Given the description of an element on the screen output the (x, y) to click on. 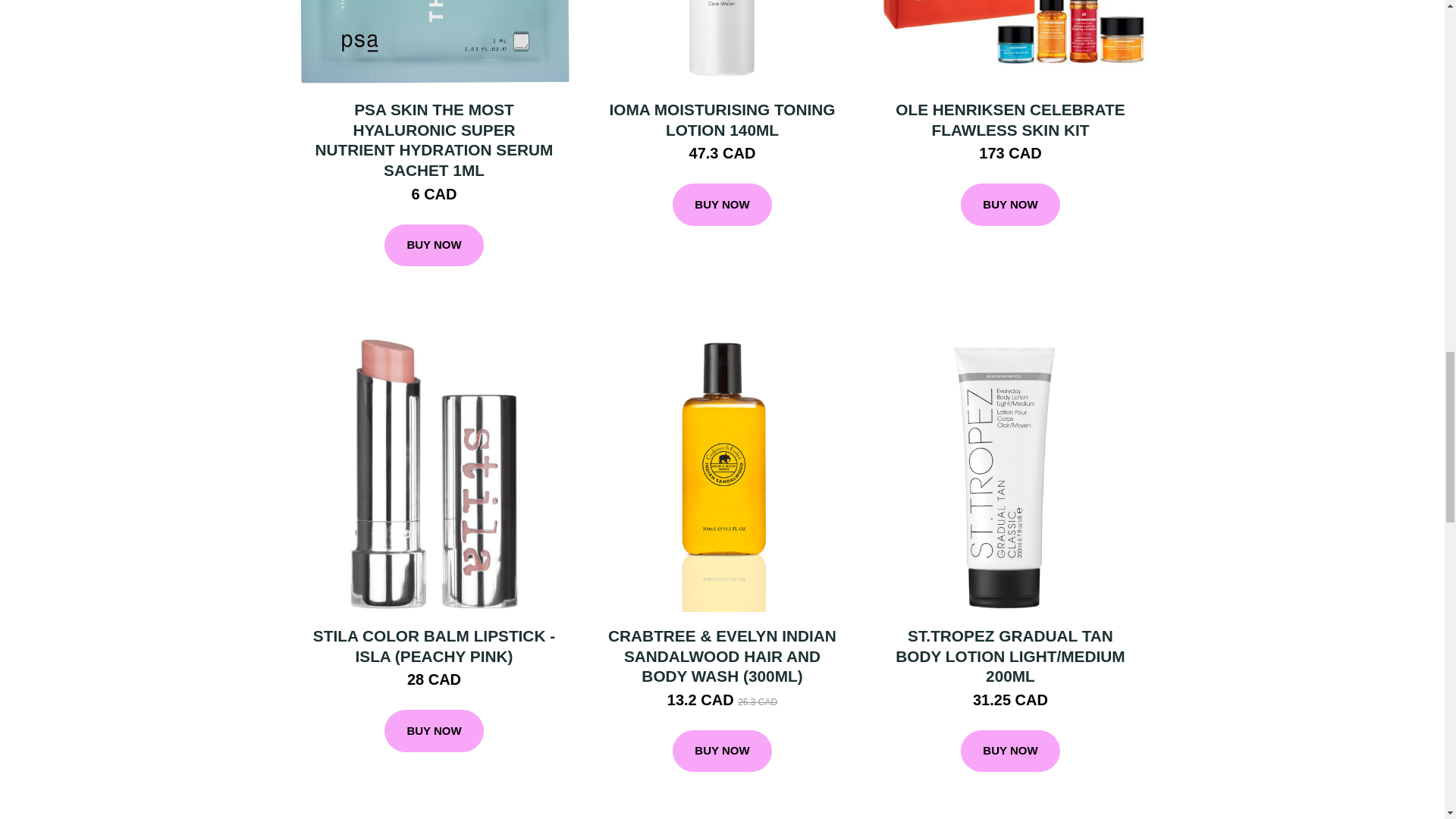
BUY NOW (721, 204)
BUY NOW (721, 751)
BUY NOW (1009, 204)
BUY NOW (433, 245)
IOMA MOISTURISING TONING LOTION 140ML (721, 119)
BUY NOW (433, 731)
OLE HENRIKSEN CELEBRATE FLAWLESS SKIN KIT (1009, 119)
